Given the description of an element on the screen output the (x, y) to click on. 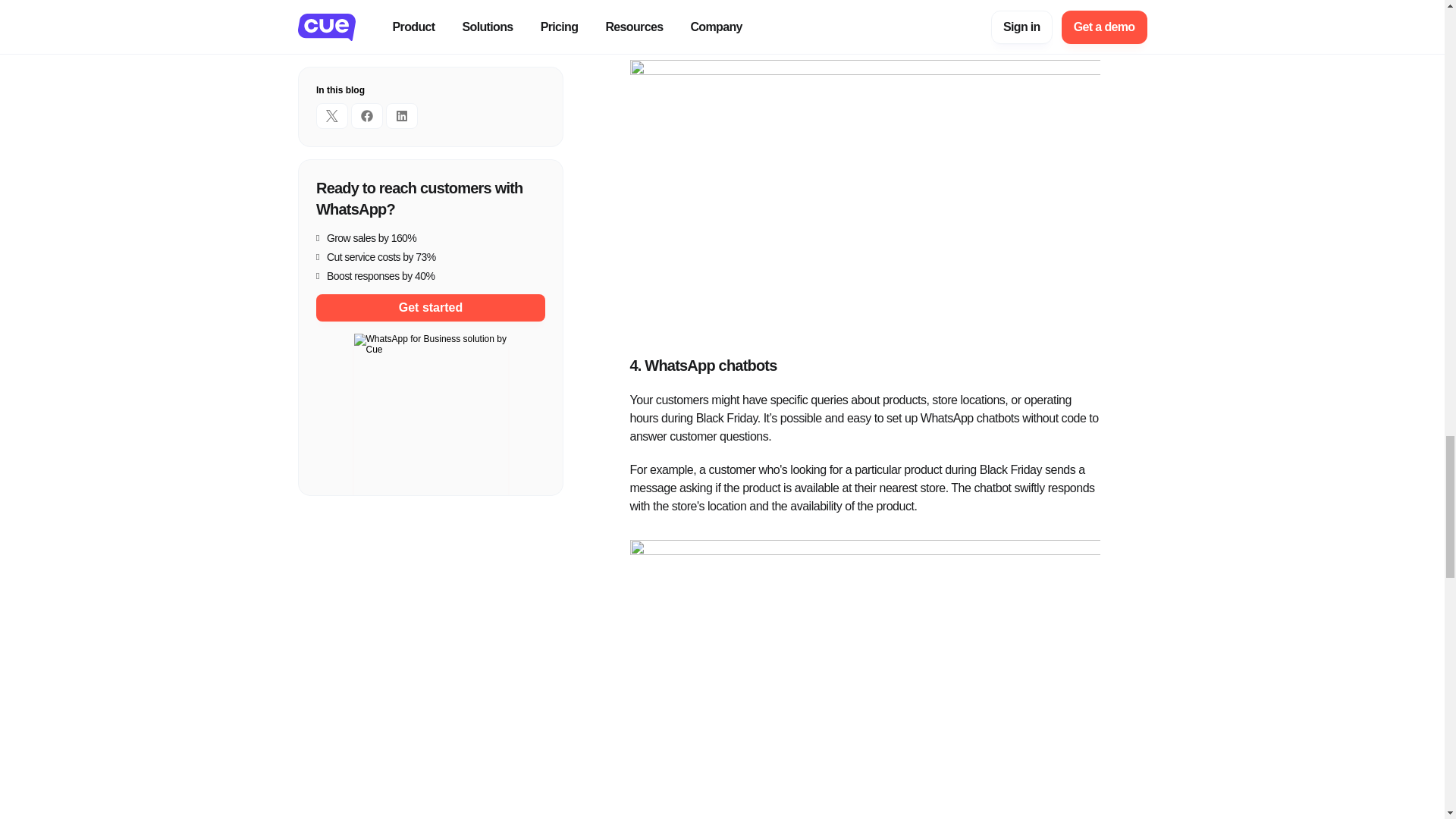
live chat web widget (849, 7)
